Given the description of an element on the screen output the (x, y) to click on. 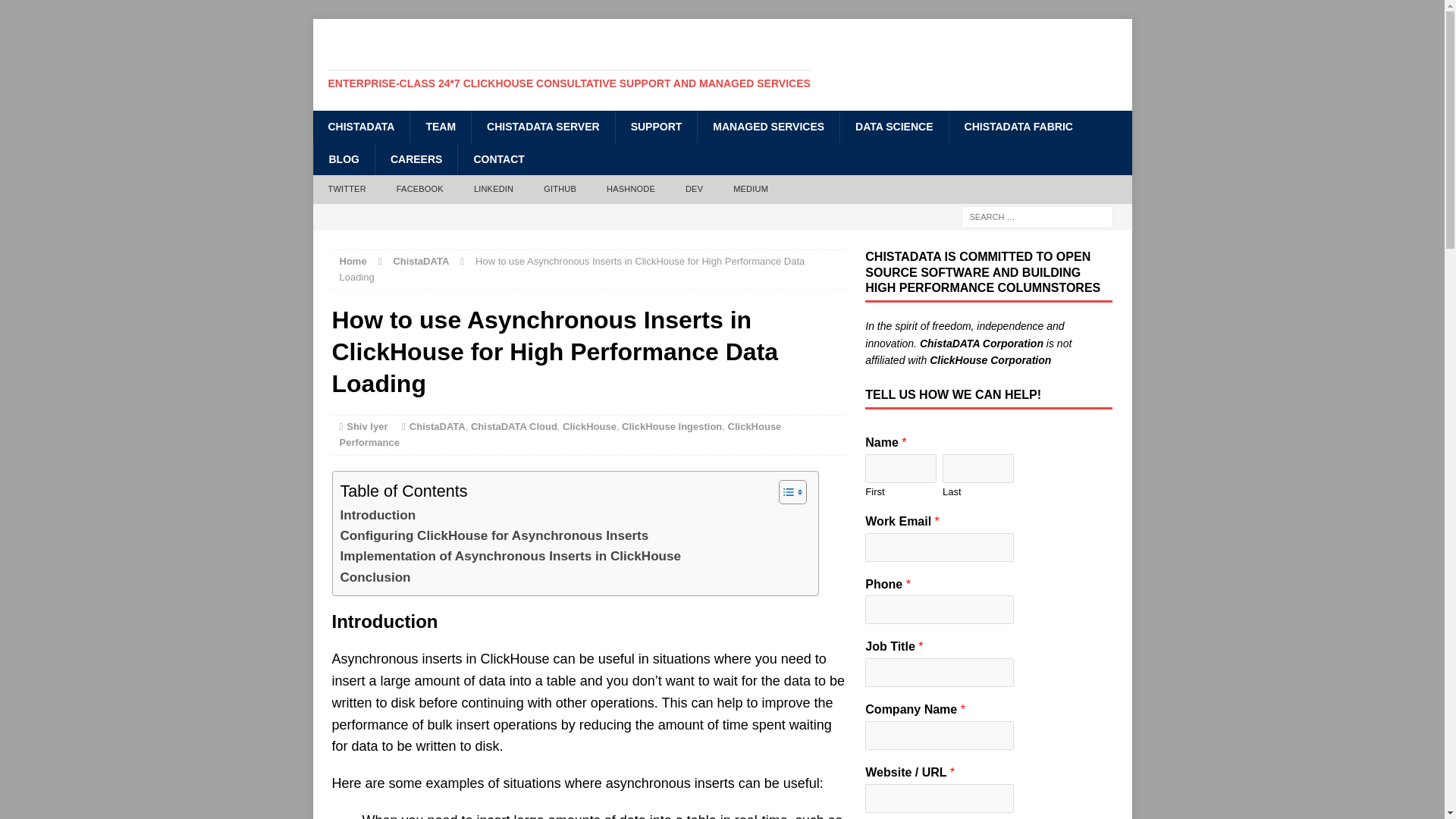
ChistaDATA Inc. (722, 64)
SUPPORT (655, 126)
MANAGED SERVICES (768, 126)
TWITTER (346, 189)
CHISTADATA FABRIC (1018, 126)
FACEBOOK (419, 189)
CHISTADATA SERVER (542, 126)
CAREERS (415, 159)
TEAM (439, 126)
Implementation of Asynchronous Inserts in ClickHouse (510, 556)
Conclusion (374, 577)
Configuring ClickHouse for Asynchronous Inserts (493, 535)
Introduction (376, 515)
DATA SCIENCE (893, 126)
BLOG (343, 159)
